Given the description of an element on the screen output the (x, y) to click on. 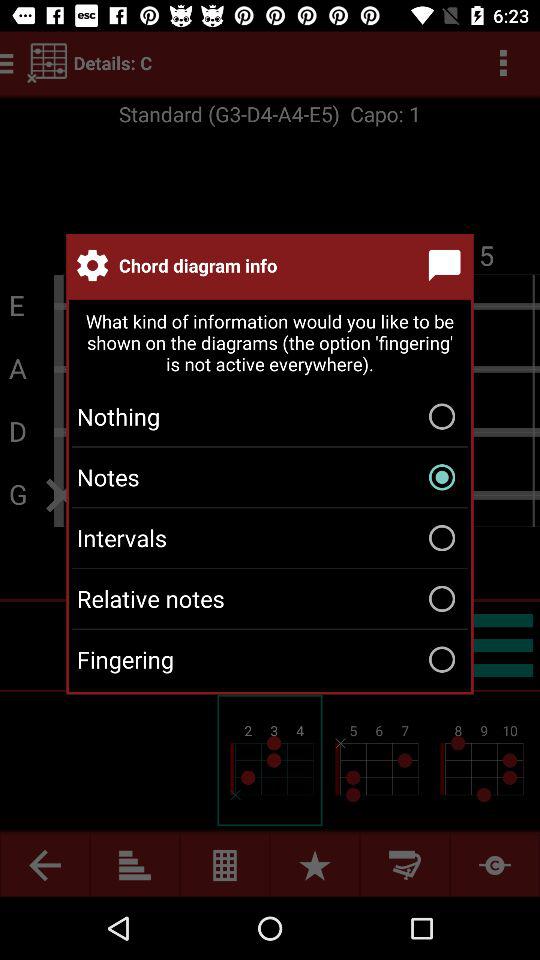
open nothing item (269, 416)
